Given the description of an element on the screen output the (x, y) to click on. 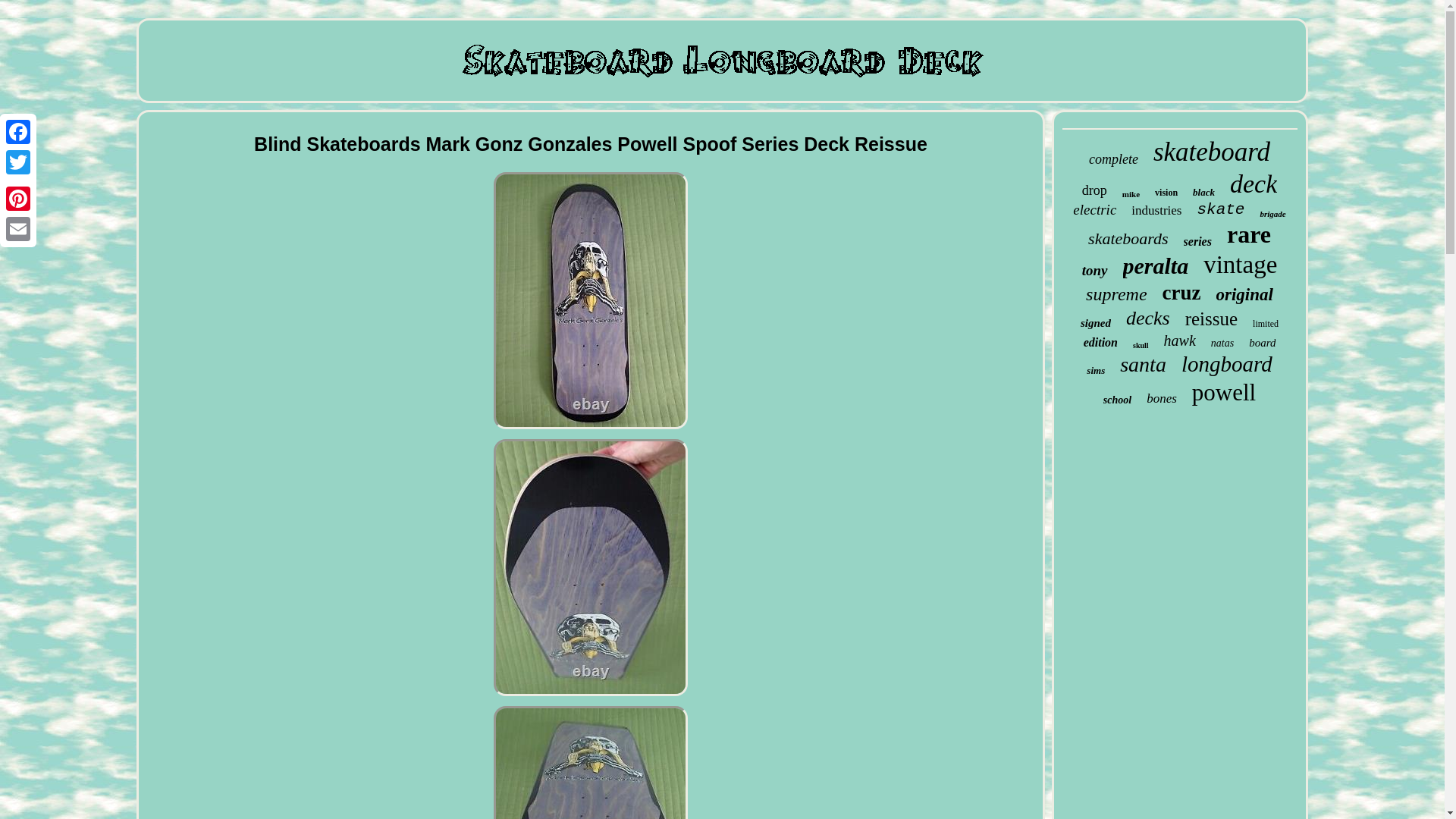
brigade (1272, 213)
electric (1094, 209)
natas (1222, 343)
vision (1165, 193)
vintage (1240, 264)
drop (1093, 190)
decks (1147, 318)
Email (17, 228)
deck (1253, 184)
mike (1131, 194)
